Given the description of an element on the screen output the (x, y) to click on. 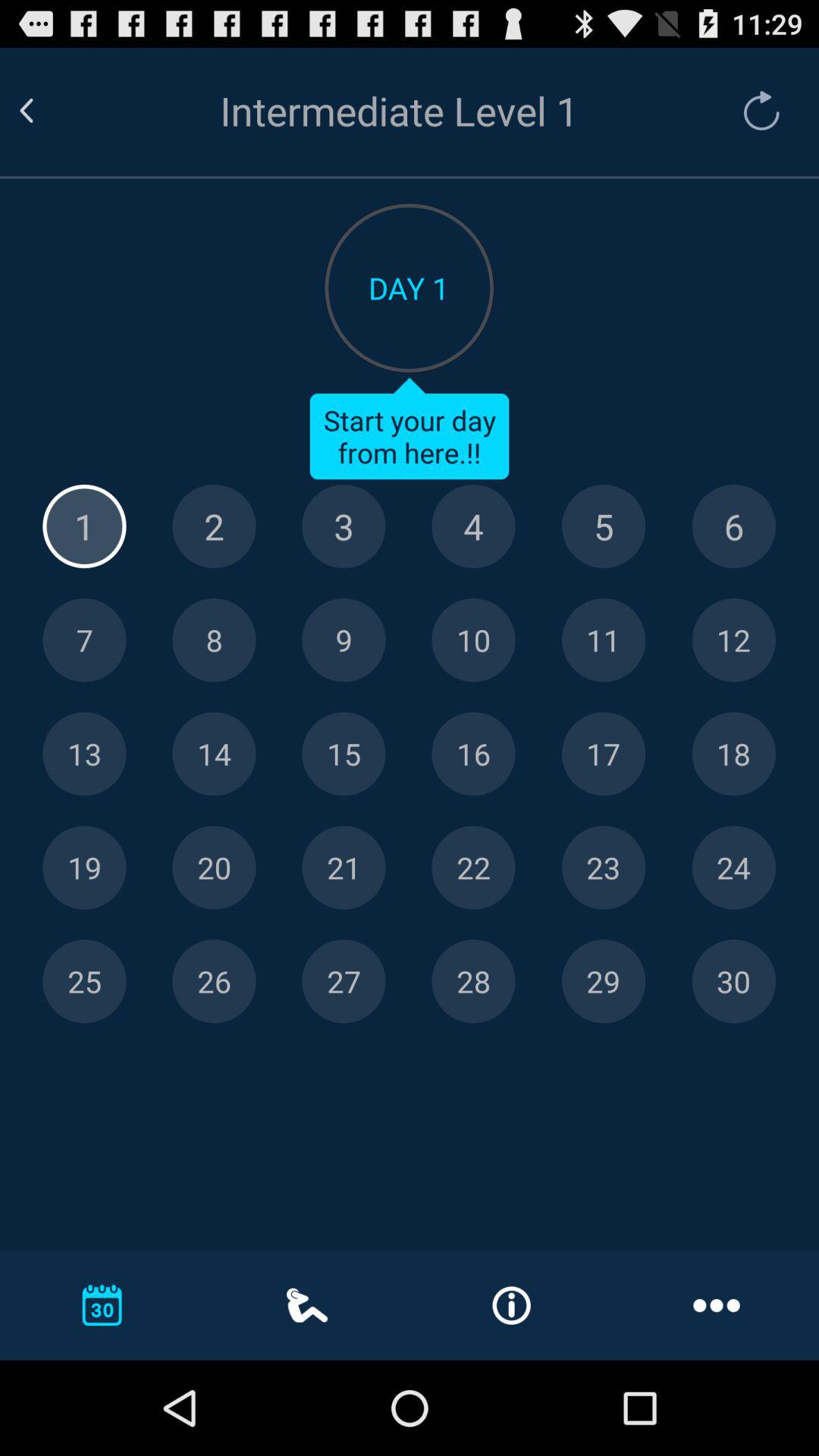
please calculate (84, 867)
